Given the description of an element on the screen output the (x, y) to click on. 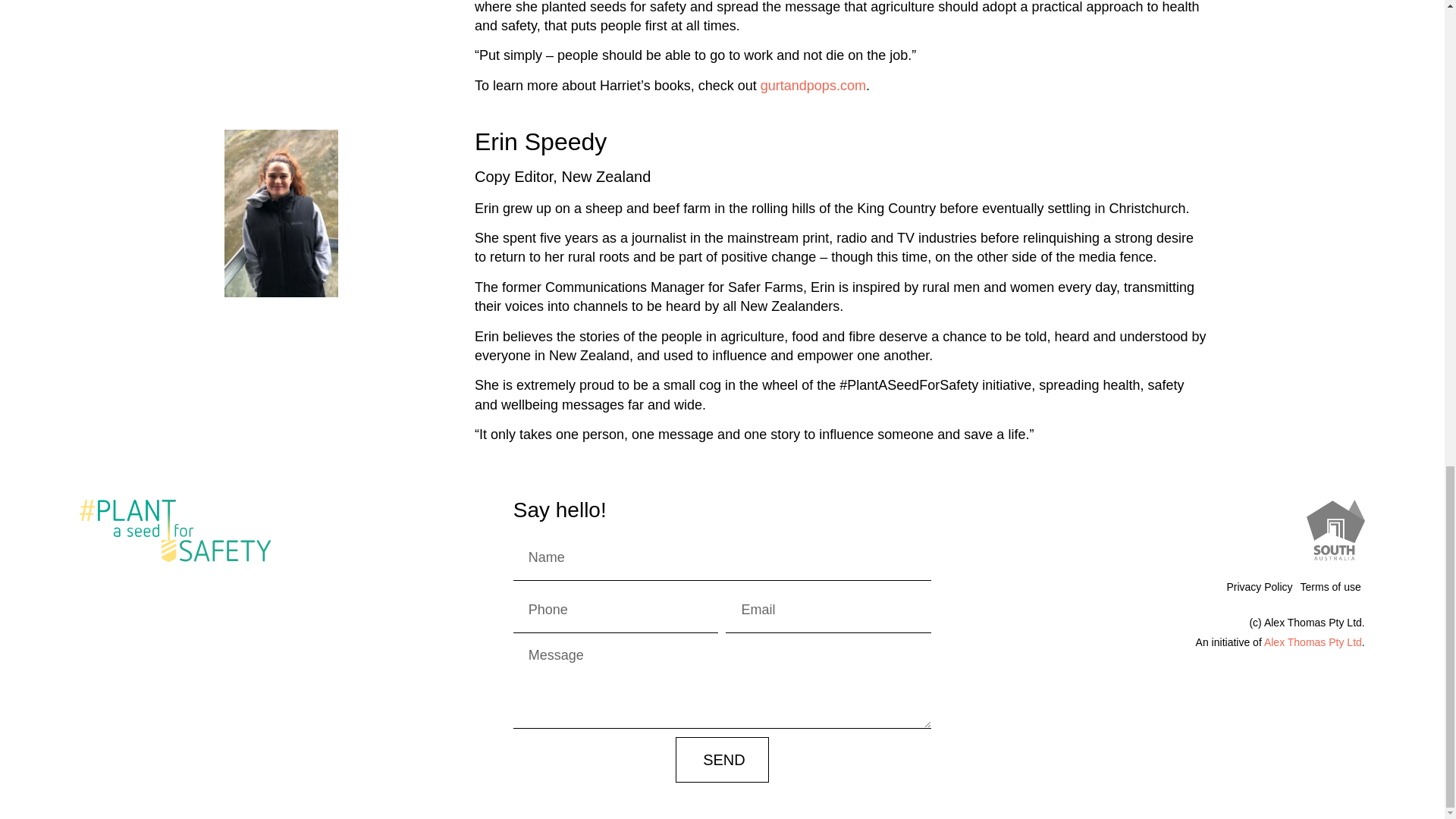
Terms of use (1331, 586)
Privacy Policy (1259, 586)
gurtandpops.com (813, 85)
Alex Thomas Pty Ltd (1312, 642)
SEND (721, 759)
